Given the description of an element on the screen output the (x, y) to click on. 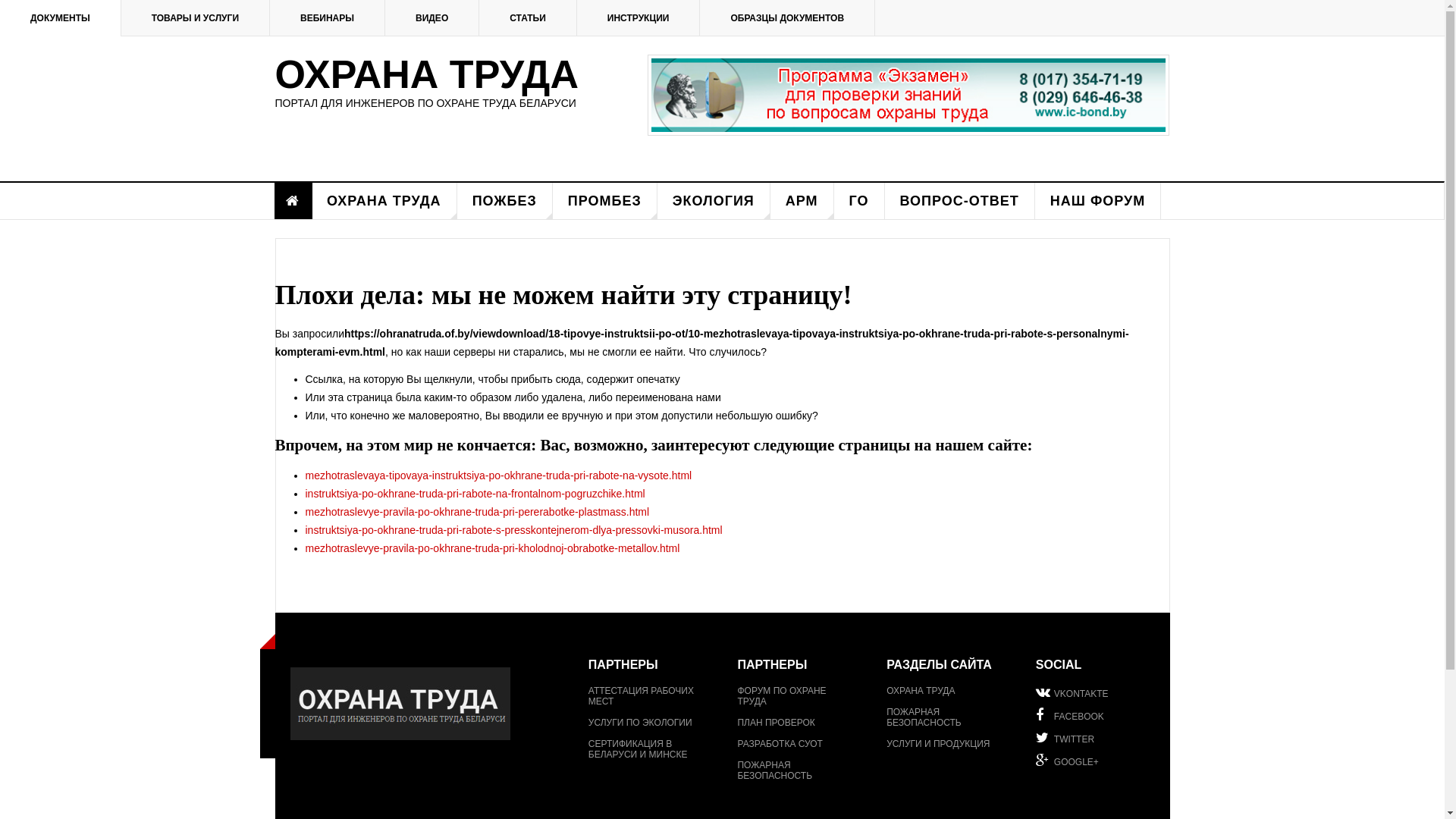
TWITTER Element type: text (1094, 737)
FACEBOOK Element type: text (1094, 714)
GOOGLE+ Element type: text (1094, 760)
VKONTAKTE Element type: text (1094, 691)
